Given the description of an element on the screen output the (x, y) to click on. 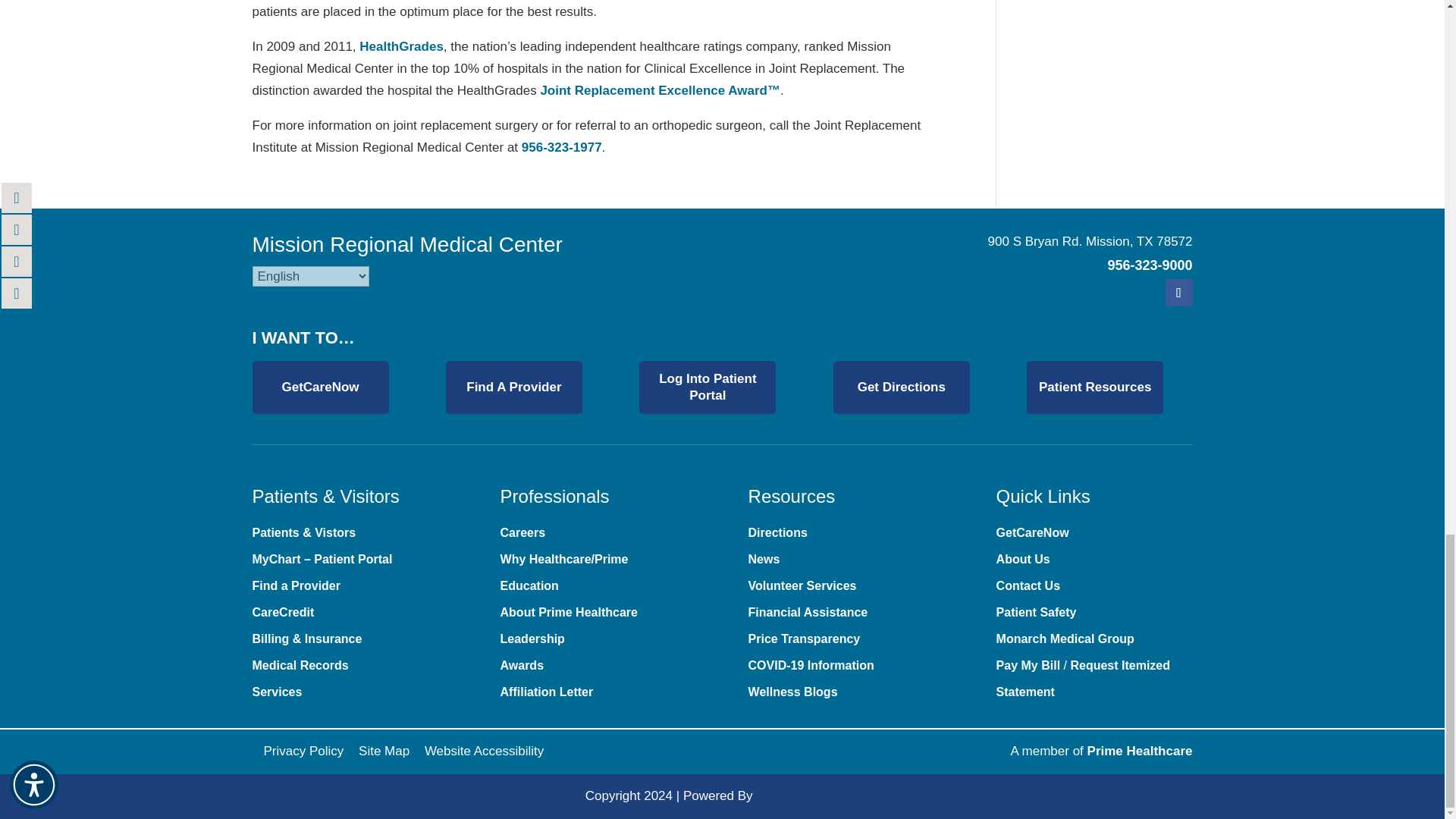
HealthGrades (401, 46)
Follow on Facebook (1178, 292)
